Given the description of an element on the screen output the (x, y) to click on. 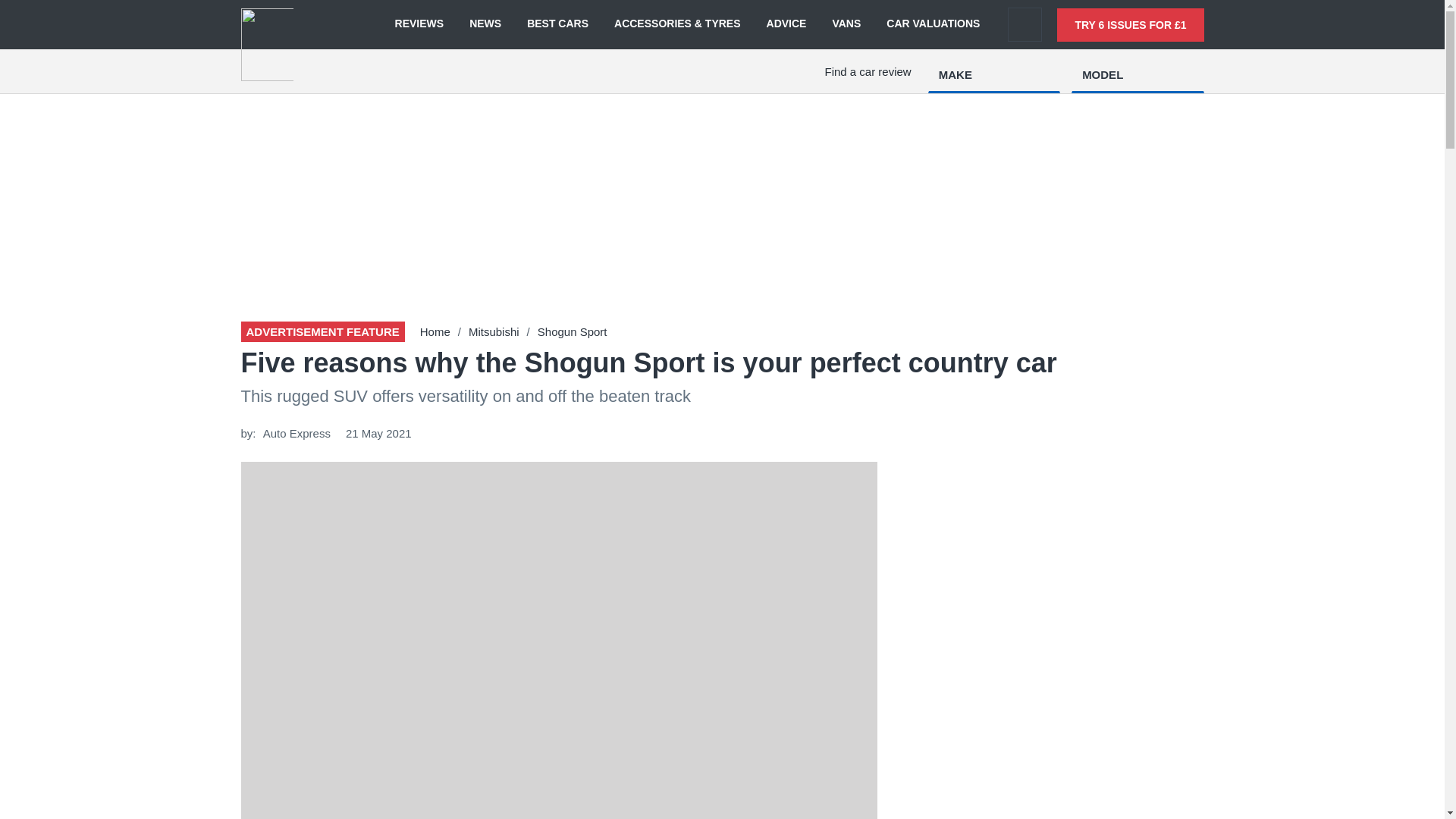
CAR VALUATIONS (932, 24)
ADVICE (786, 24)
BEST CARS (557, 24)
VANS (845, 24)
REVIEWS (419, 24)
NEWS (485, 24)
Search (1024, 24)
Search (1024, 24)
